Given the description of an element on the screen output the (x, y) to click on. 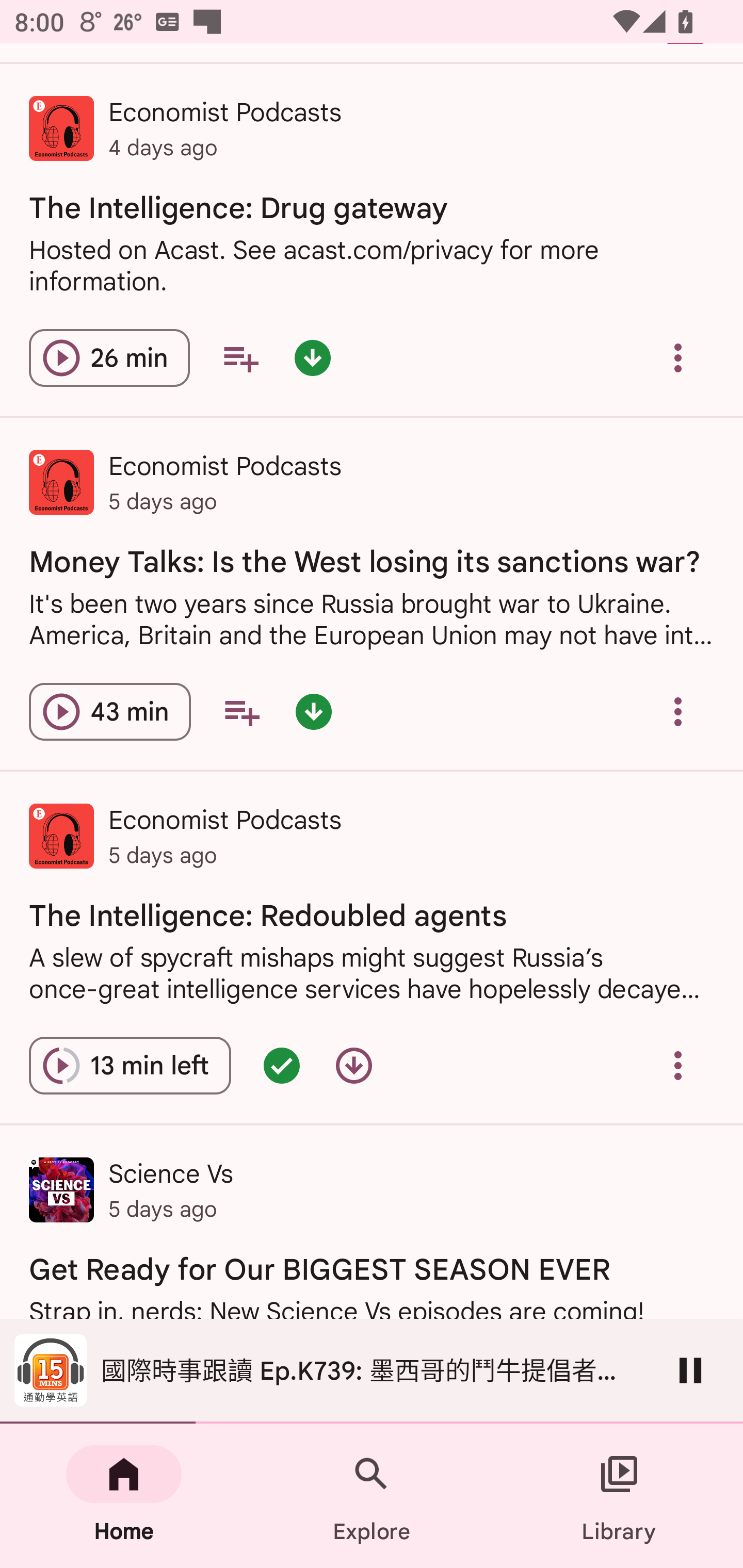
Play episode The Intelligence: Drug gateway 26 min (109, 358)
Add to your queue (240, 358)
Episode downloaded - double tap for options (312, 358)
Overflow menu (677, 358)
Add to your queue (241, 711)
Episode downloaded - double tap for options (313, 711)
Overflow menu (677, 711)
Episode queued - double tap for options (281, 1065)
Download episode (354, 1065)
Overflow menu (677, 1065)
Pause (690, 1370)
Explore (371, 1495)
Library (619, 1495)
